Given the description of an element on the screen output the (x, y) to click on. 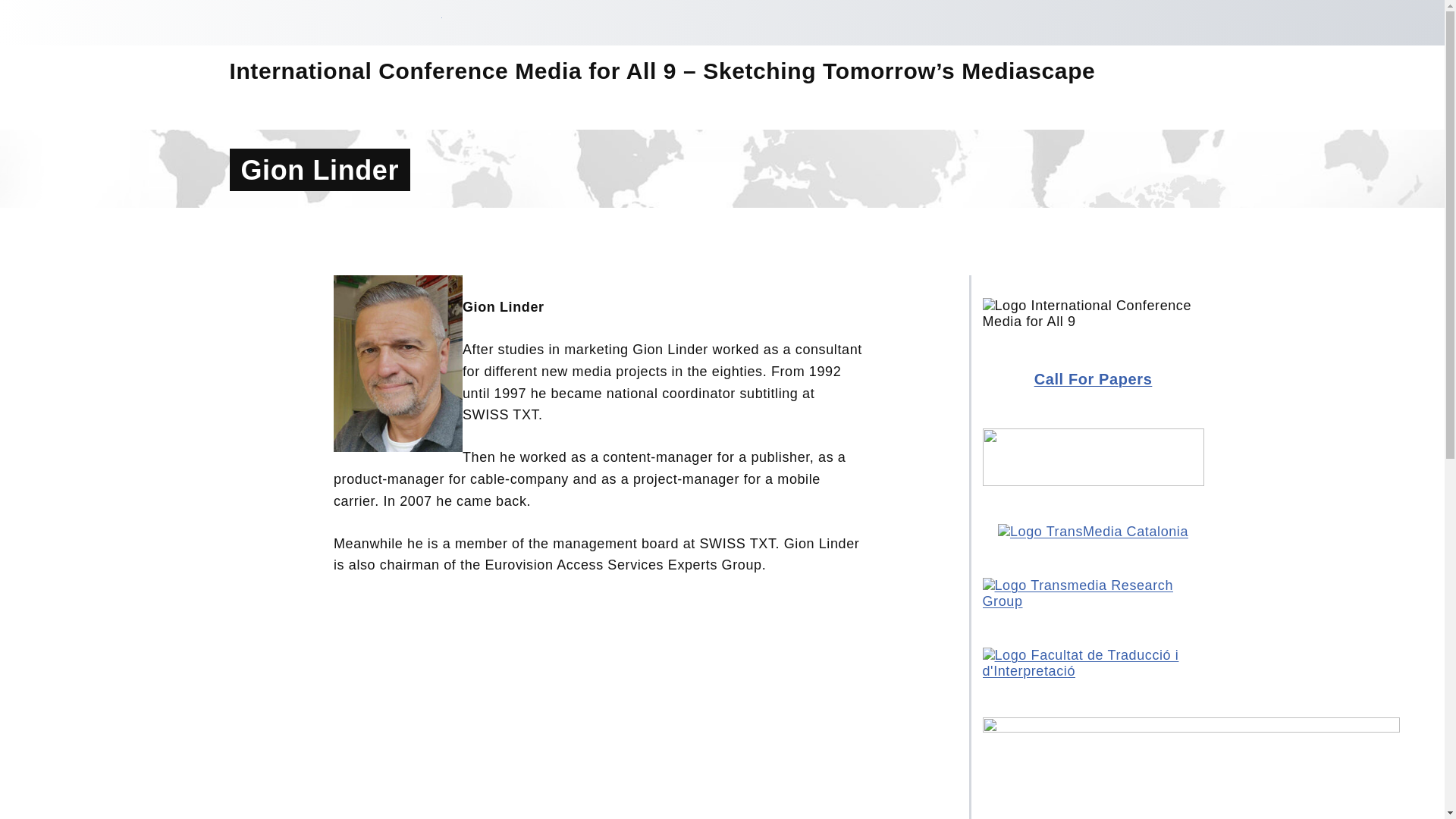
Logo TransMedia Catalonia (1092, 531)
Logo Transmedia Research Group (1093, 593)
